Given the description of an element on the screen output the (x, y) to click on. 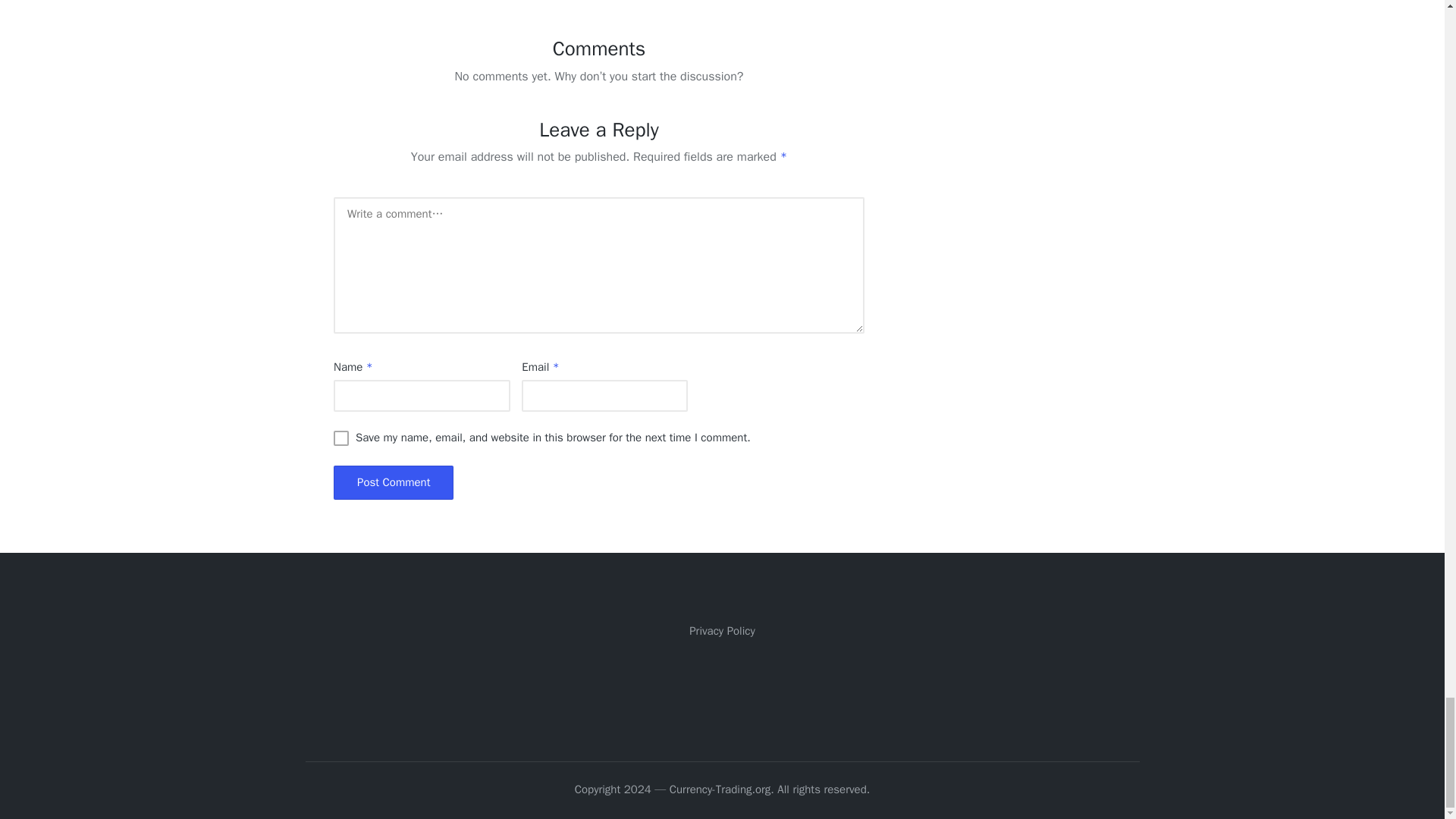
Post Comment (392, 482)
yes (341, 437)
DMCA.com Protection Status (722, 688)
Post Comment (392, 482)
